Given the description of an element on the screen output the (x, y) to click on. 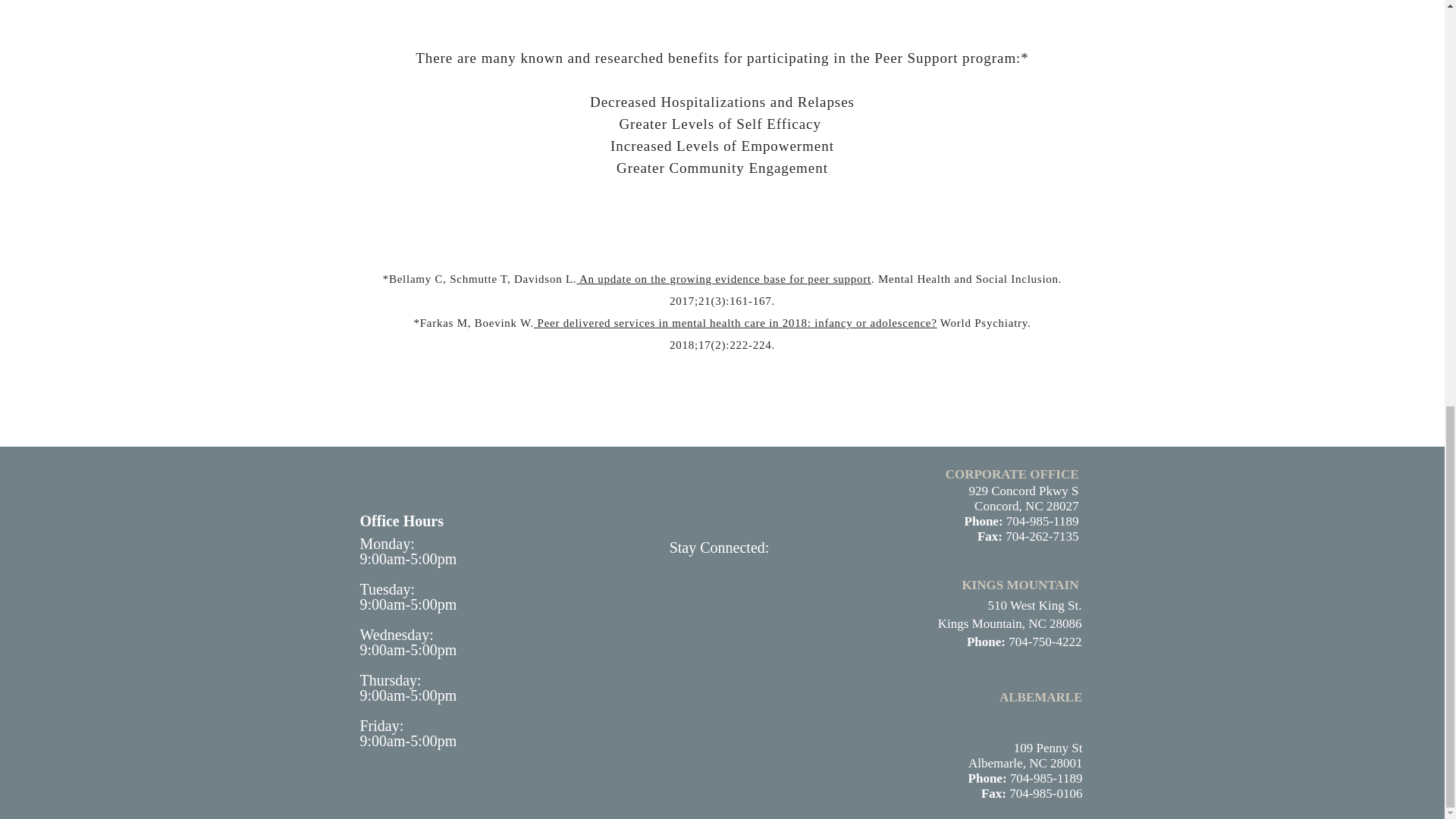
 An update on the growing evidence base for peer support (723, 278)
